Given the description of an element on the screen output the (x, y) to click on. 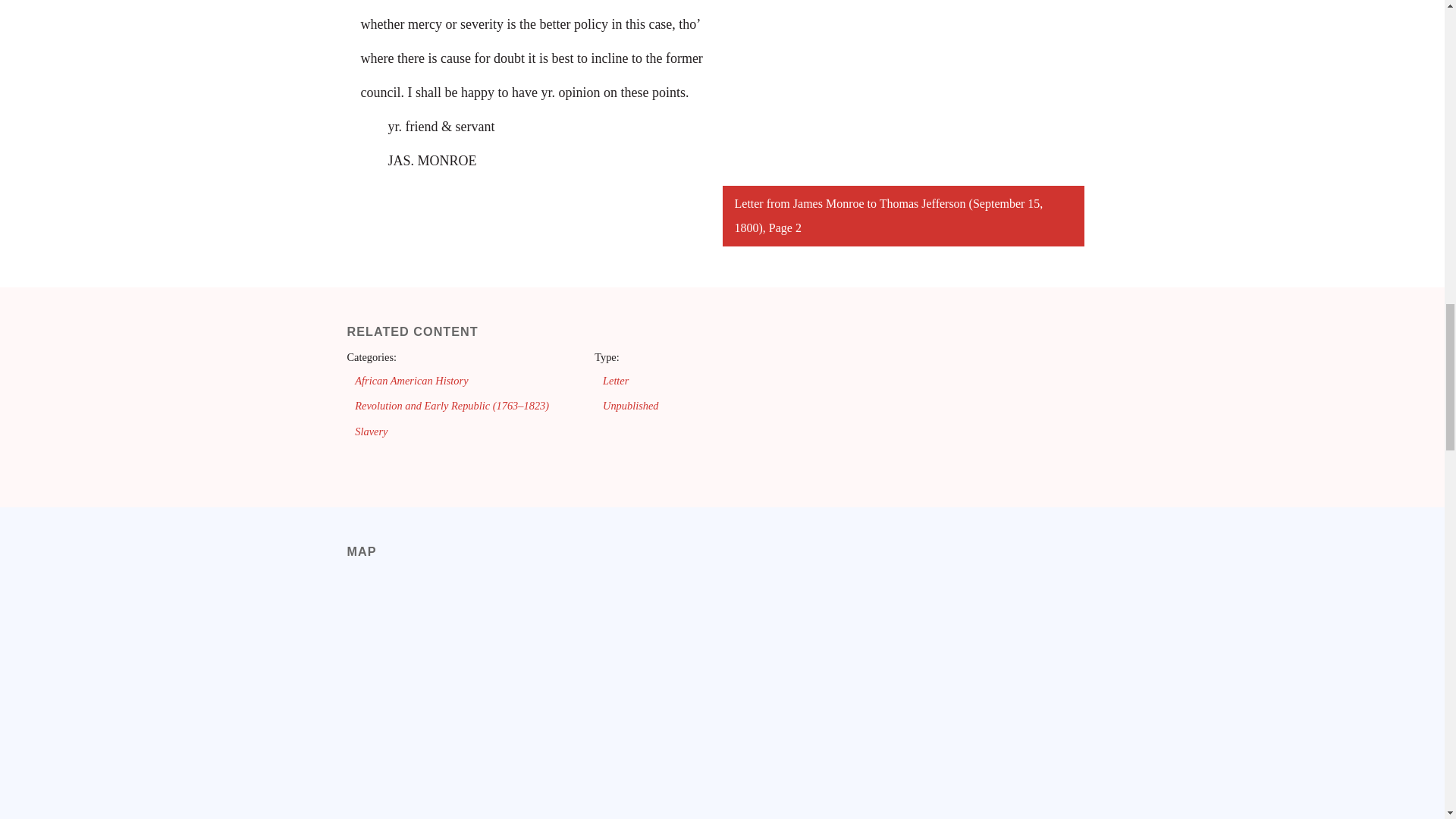
Slavery (371, 430)
Letter (615, 380)
African American History (411, 380)
Unpublished (630, 405)
